Given the description of an element on the screen output the (x, y) to click on. 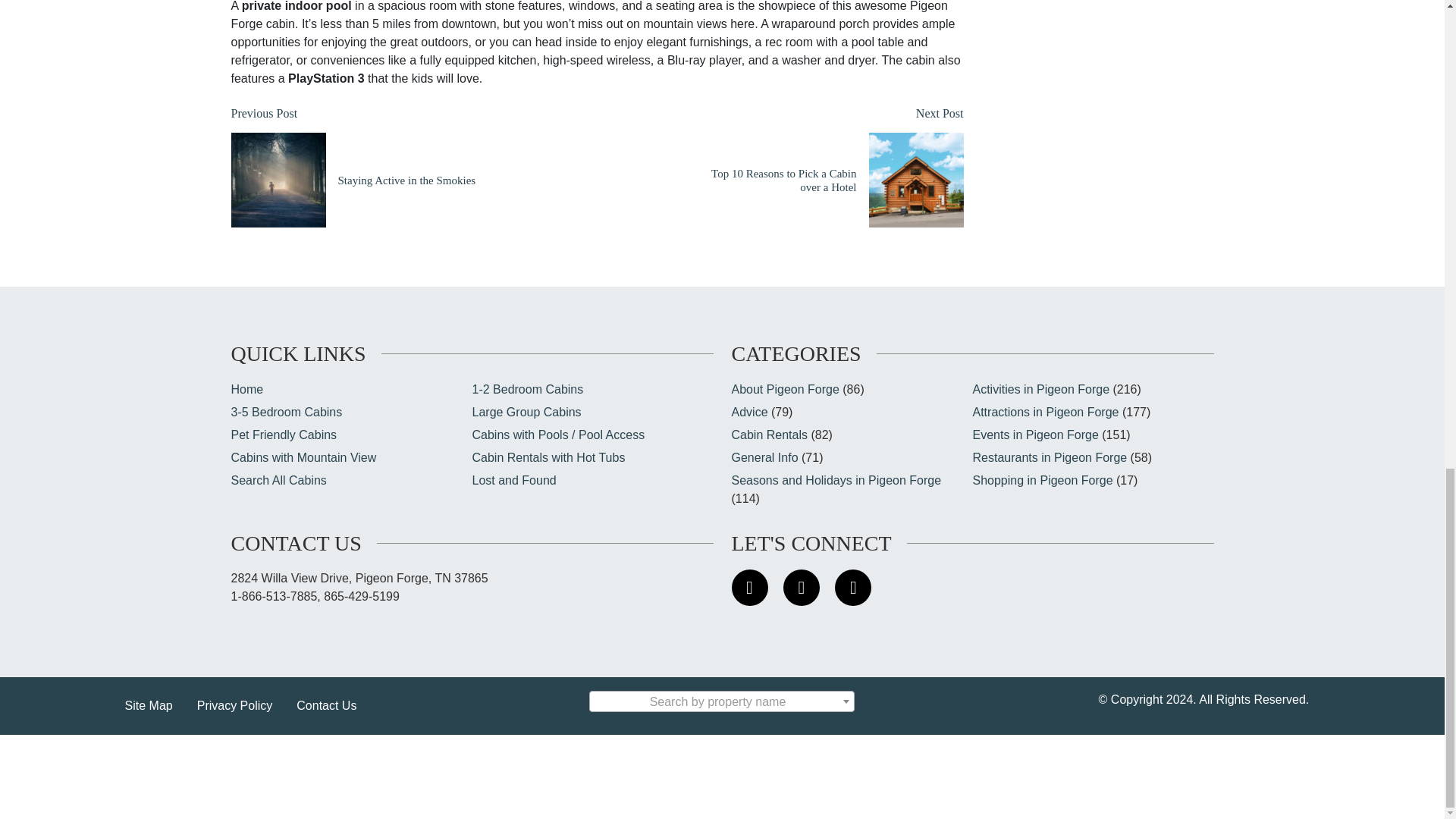
Home (363, 166)
